Given the description of an element on the screen output the (x, y) to click on. 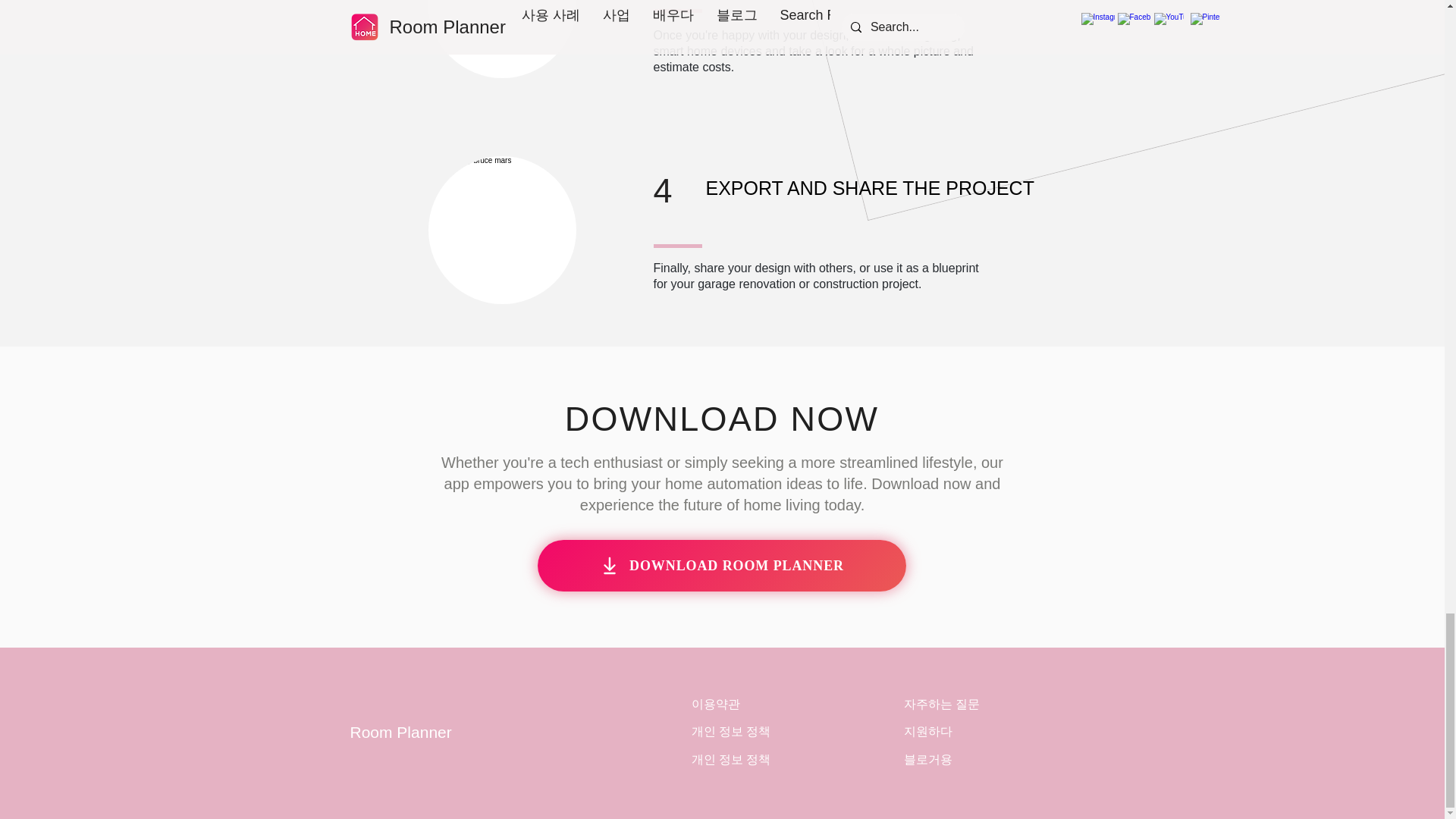
DOWNLOAD ROOM PLANNER (721, 565)
Room Planner (400, 732)
